Given the description of an element on the screen output the (x, y) to click on. 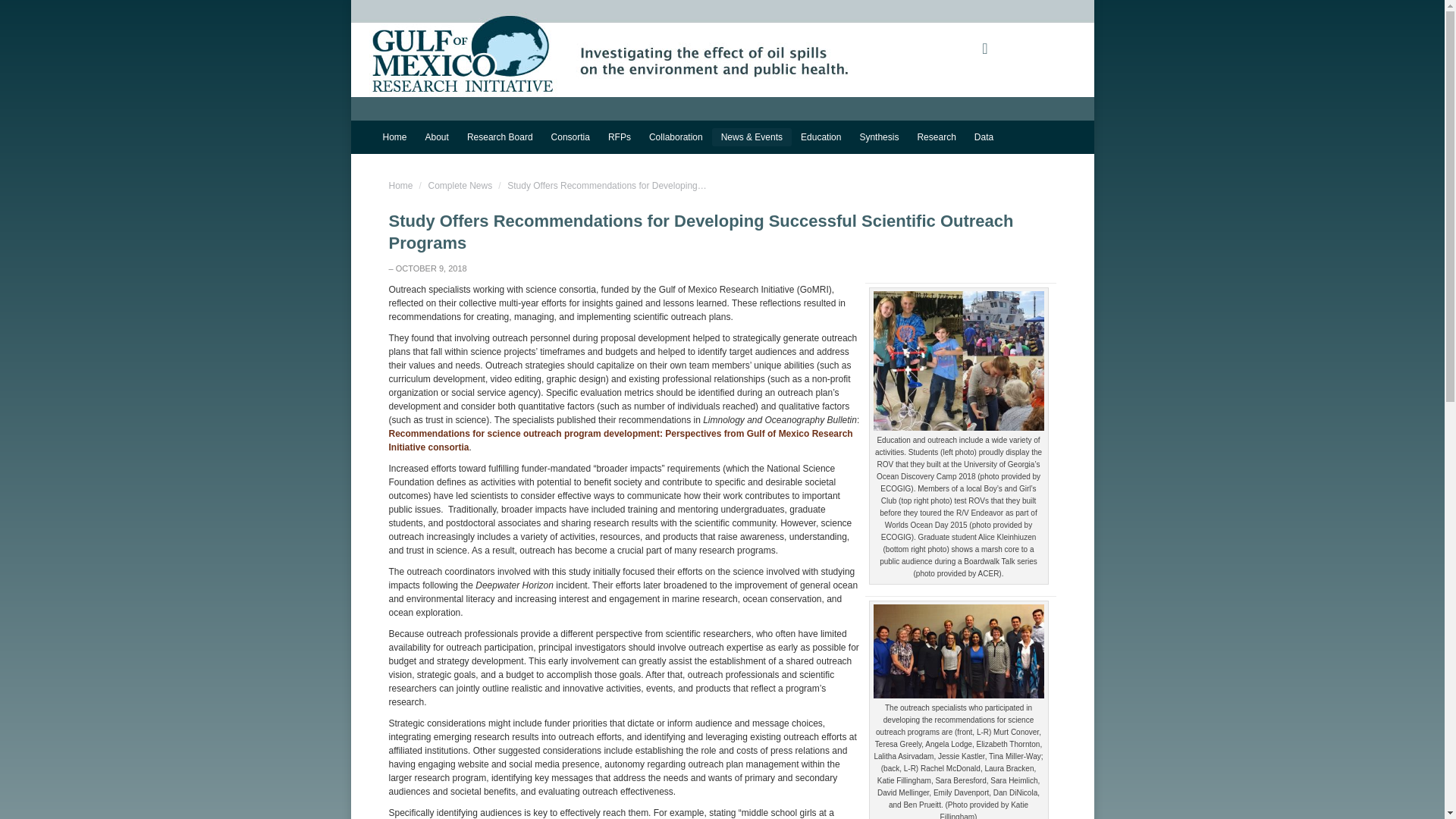
Complete News (460, 185)
Home (393, 136)
Home (400, 185)
Research Board (499, 136)
RFPs (619, 136)
Consortia (569, 136)
About (437, 136)
Go! (24, 16)
